Given the description of an element on the screen output the (x, y) to click on. 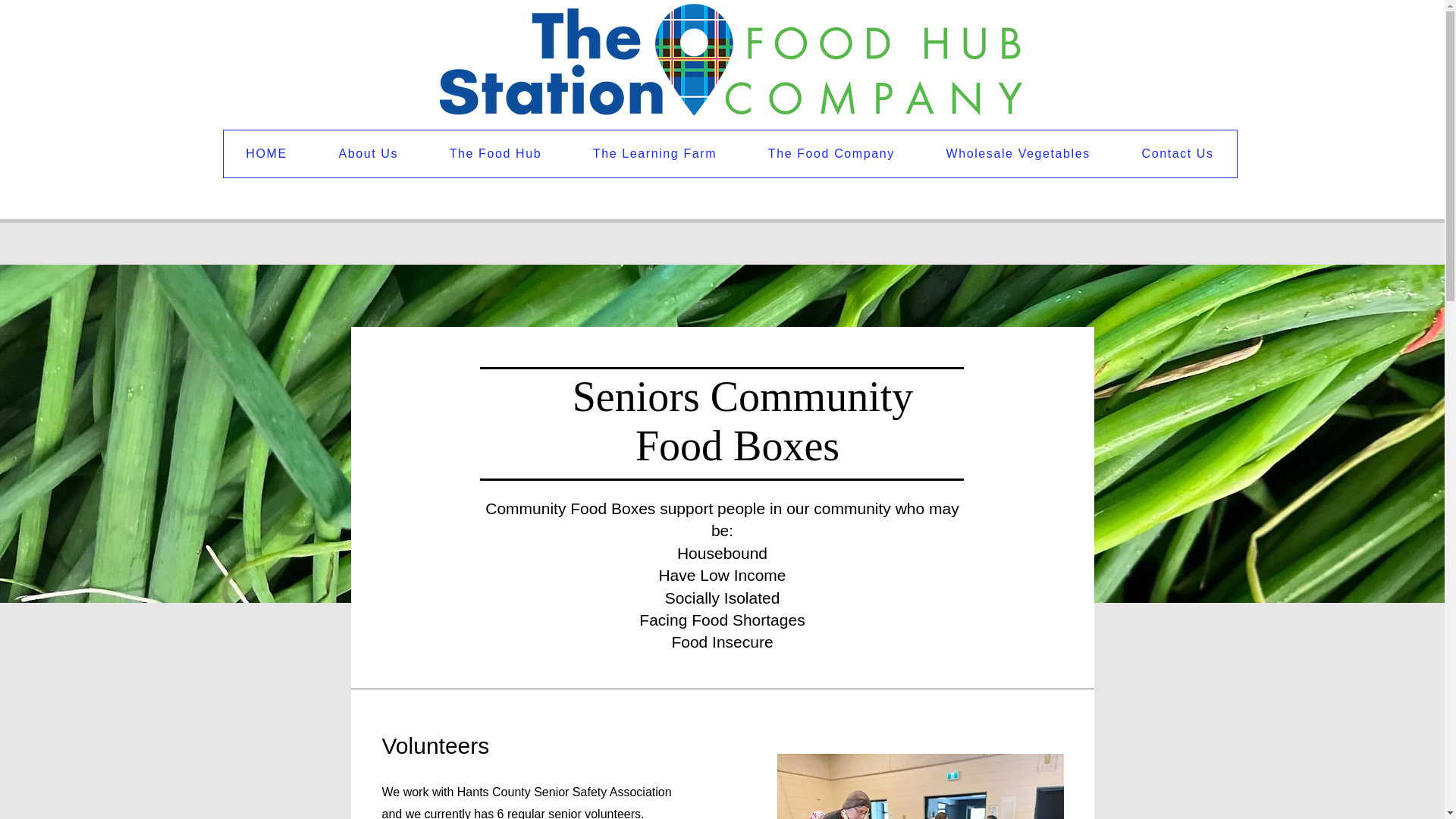
About Us (367, 153)
The Food Hub (495, 153)
The Food Company (831, 153)
Contact Us (1177, 153)
HOME (265, 153)
The Learning Farm (654, 153)
Wholesale Vegetables (1018, 153)
